Given the description of an element on the screen output the (x, y) to click on. 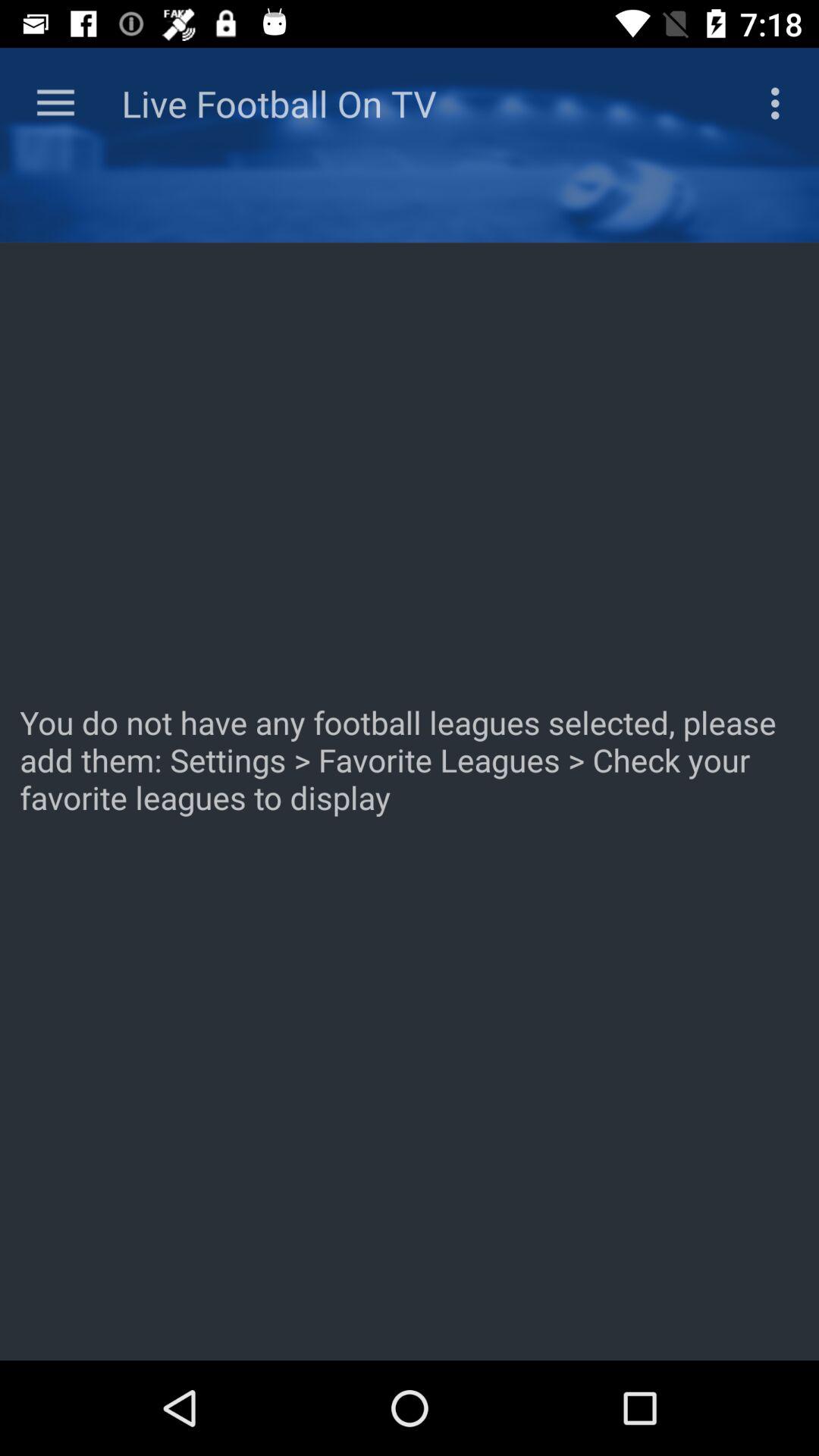
tap icon next to the live football on icon (55, 103)
